Given the description of an element on the screen output the (x, y) to click on. 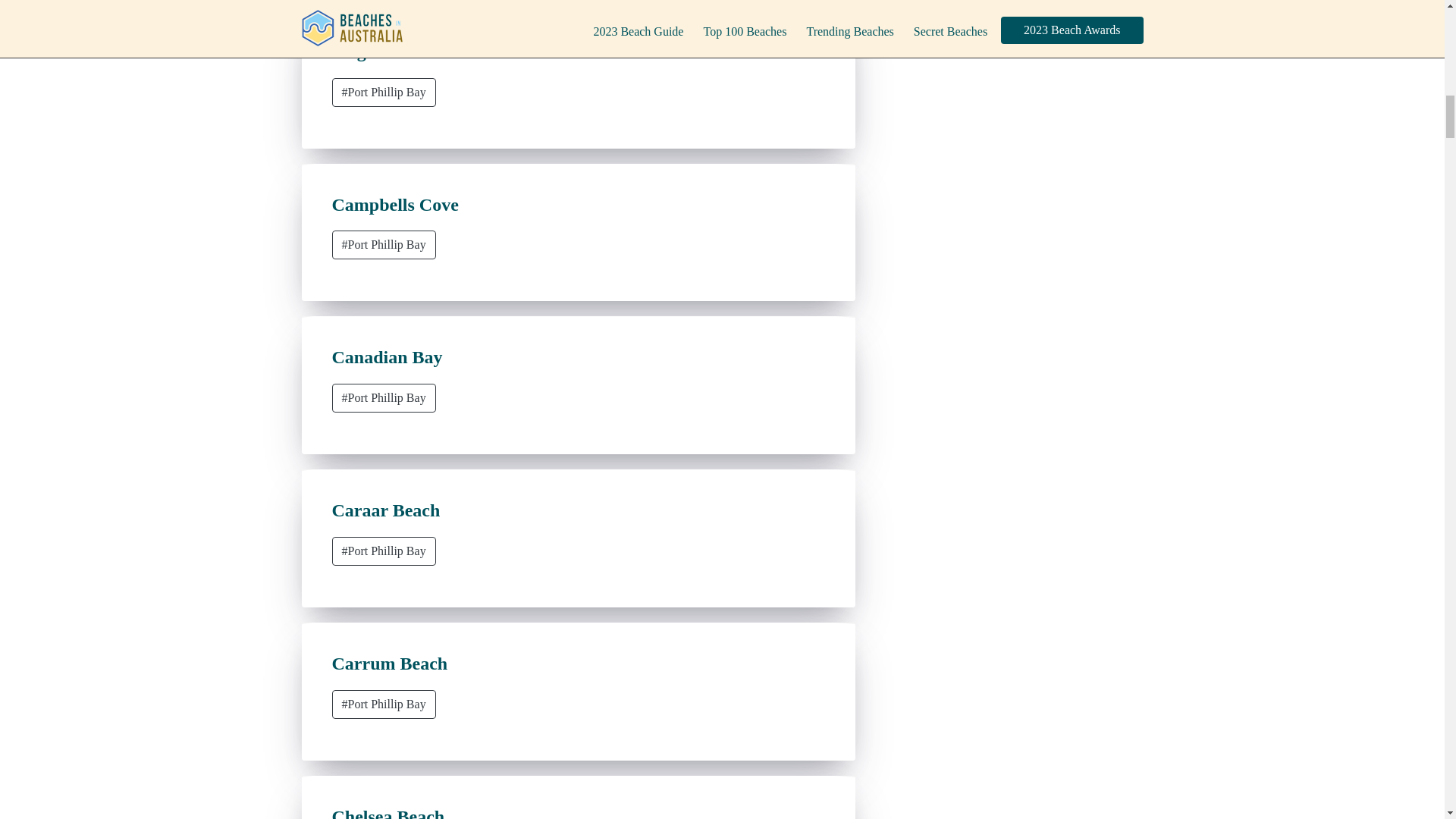
Brighton Beach (392, 51)
Canadian Bay (386, 356)
Campbells Cove (394, 204)
